Given the description of an element on the screen output the (x, y) to click on. 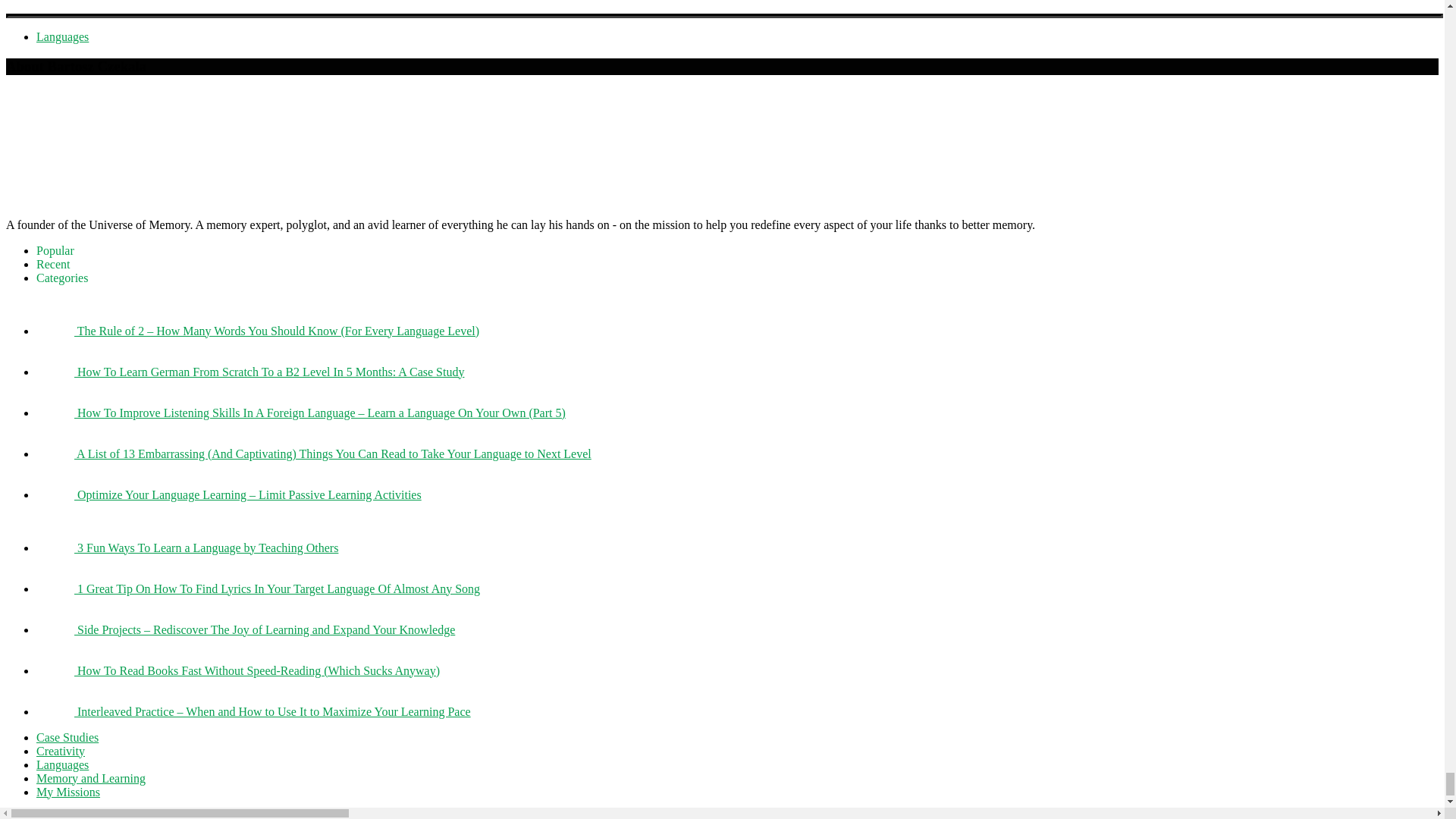
Tab 2 (52, 264)
Tab 1 (55, 250)
Tab 3 (61, 277)
